Given the description of an element on the screen output the (x, y) to click on. 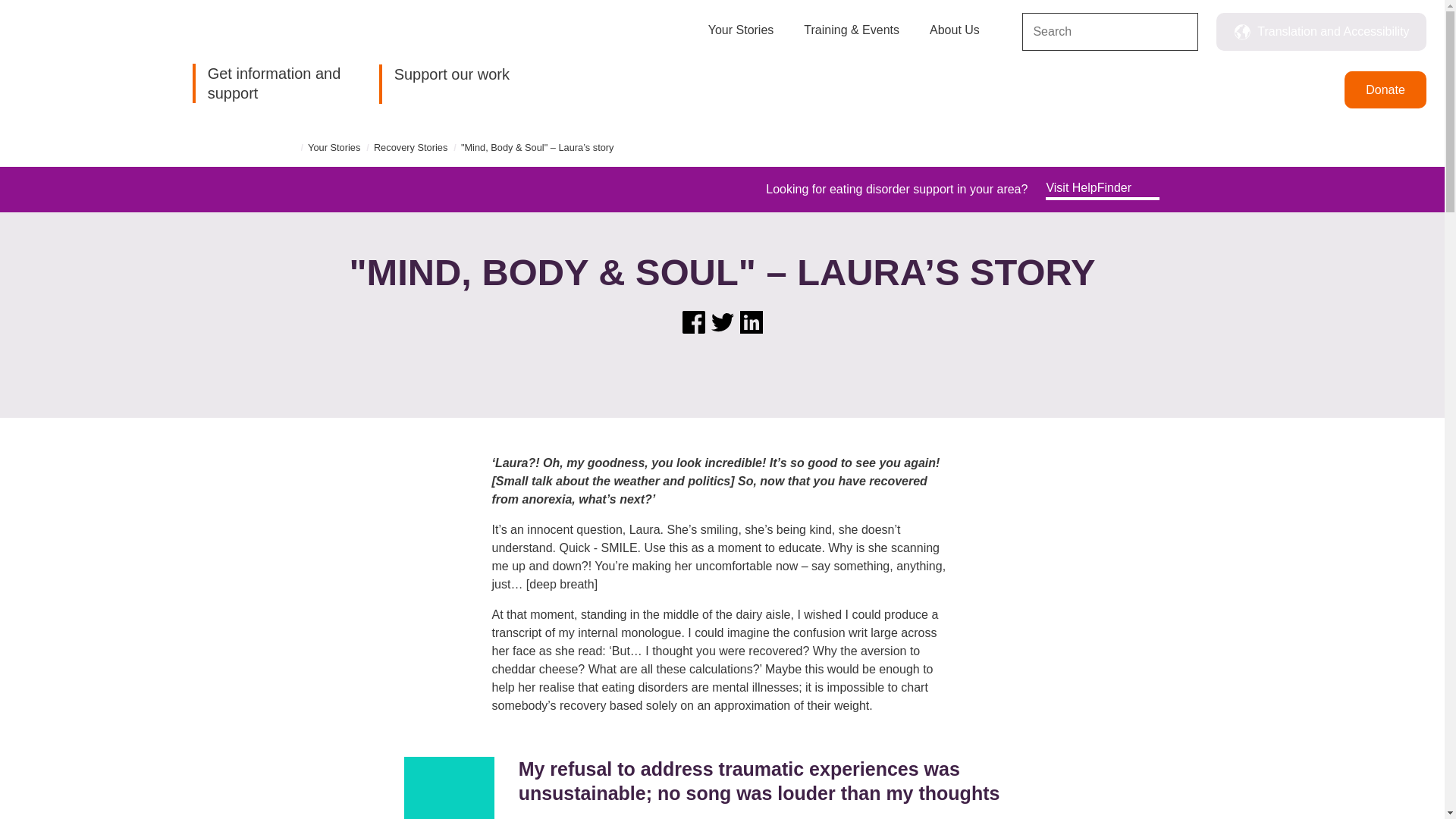
Translation and Accessibility (1320, 31)
About Us (954, 37)
Home (72, 63)
Search (1179, 33)
Your Stories (740, 37)
Get information and support (271, 83)
